Given the description of an element on the screen output the (x, y) to click on. 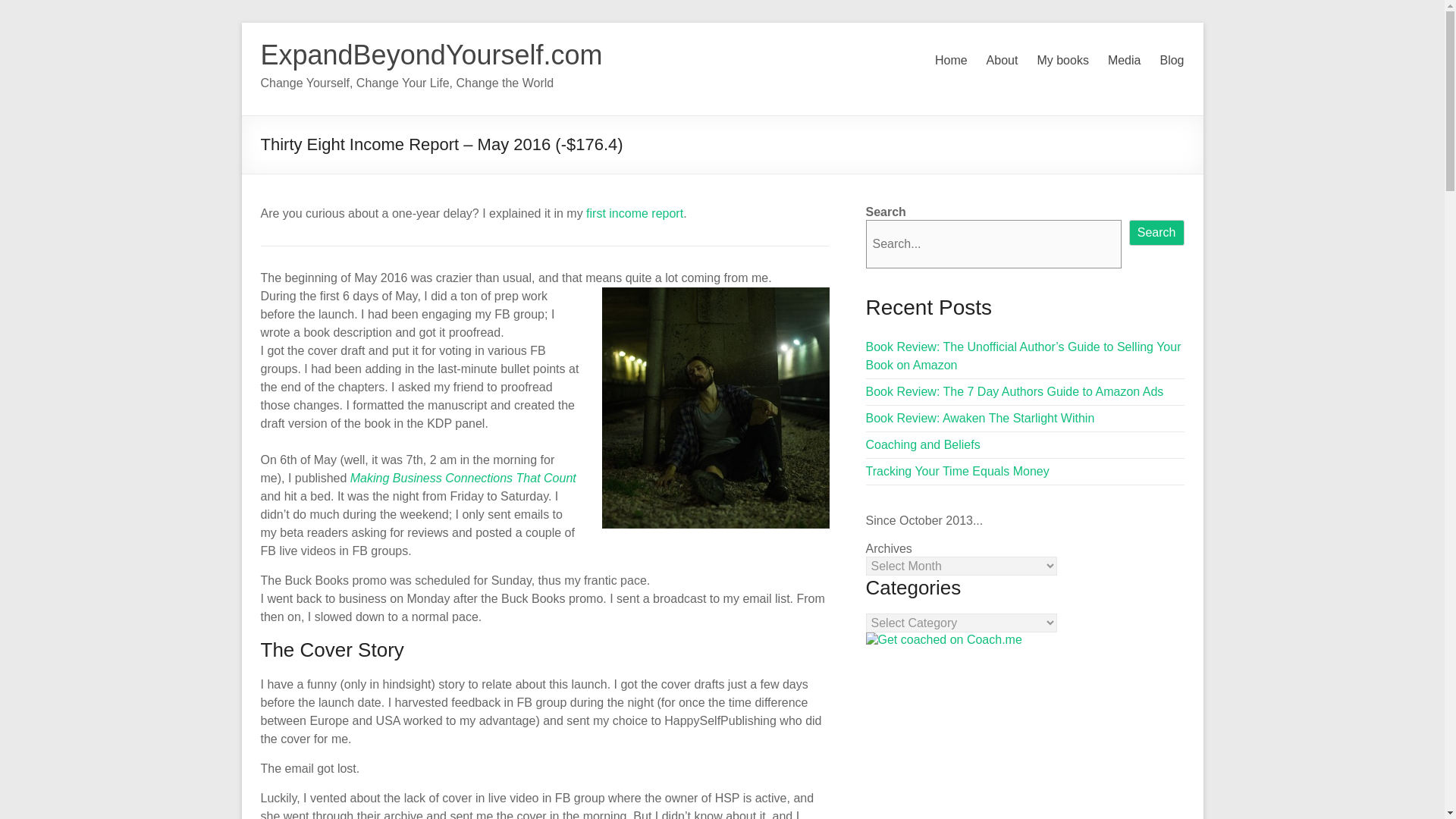
Home (951, 60)
first income report (634, 213)
My First Income Report (634, 213)
Media (1124, 60)
My books (1061, 60)
About (1002, 60)
Making Business Connections That Count (463, 477)
ExpandBeyondYourself.com (431, 54)
Blog (1170, 60)
